Given the description of an element on the screen output the (x, y) to click on. 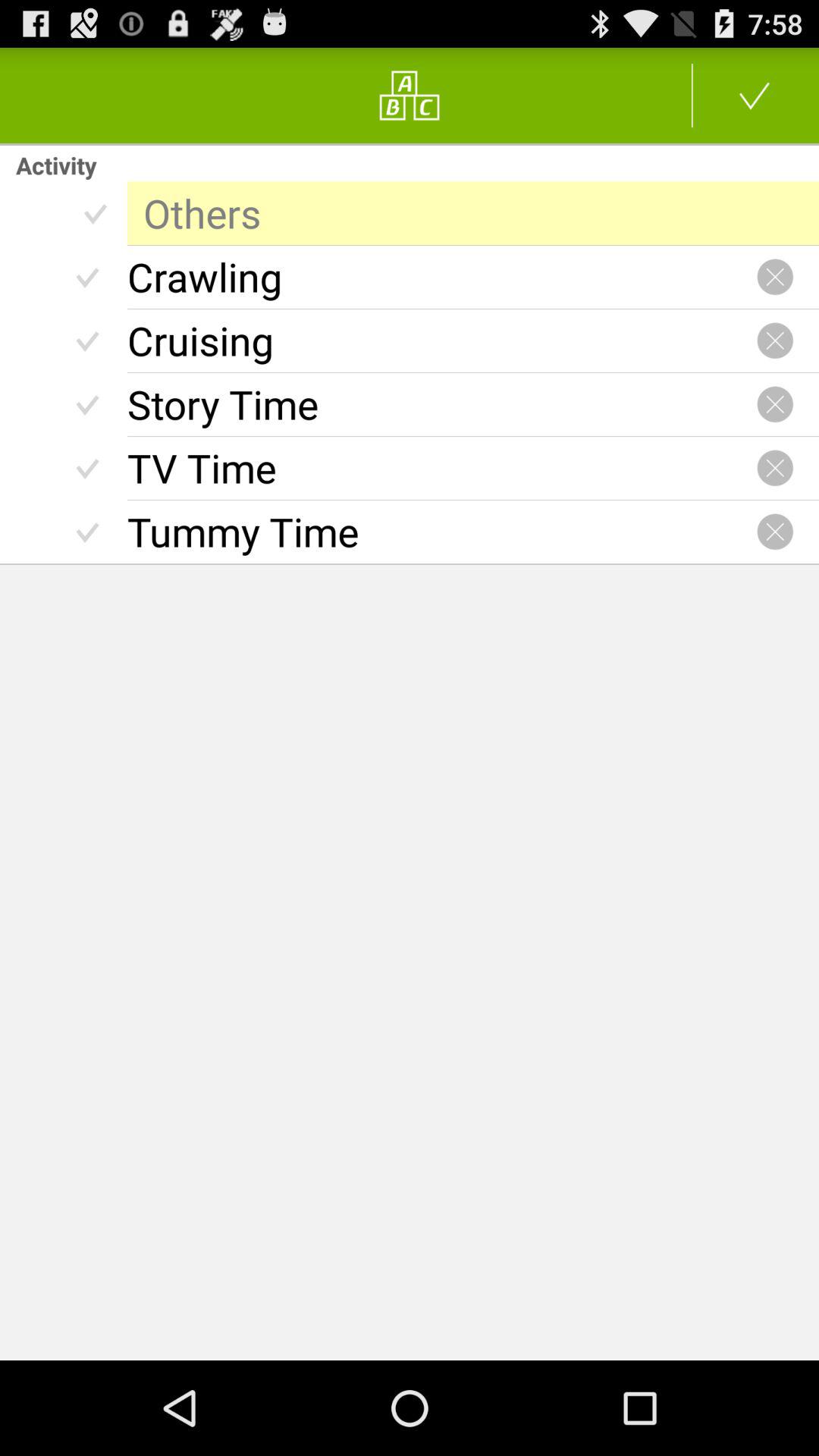
click the story time icon (441, 404)
